Given the description of an element on the screen output the (x, y) to click on. 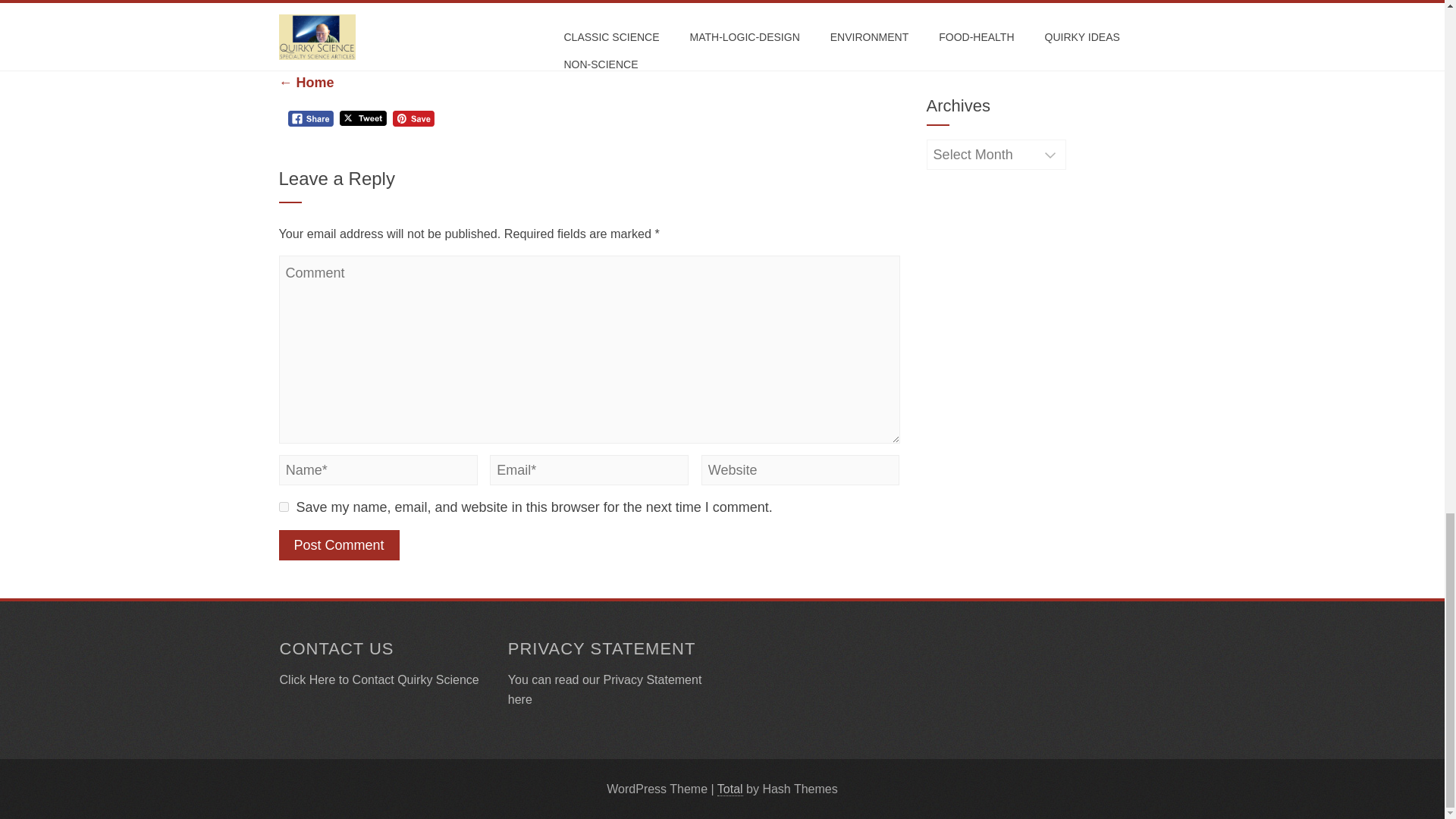
Post Comment (338, 544)
Tweet (363, 118)
yes (283, 506)
Pin Share (413, 118)
Post Comment (338, 544)
Facebook Share (311, 118)
